Given the description of an element on the screen output the (x, y) to click on. 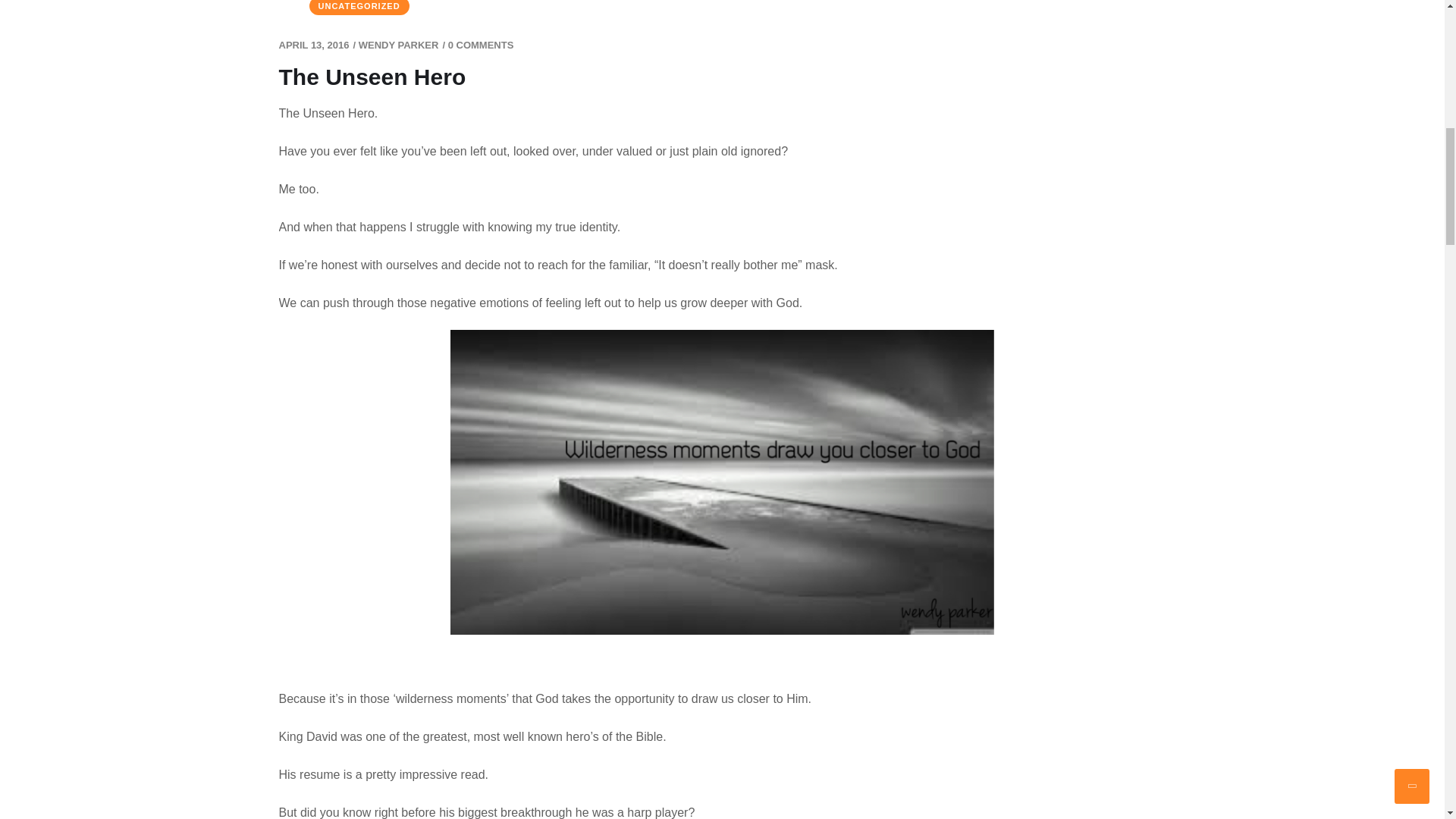
UNCATEGORIZED (358, 7)
0 COMMENTS (480, 44)
WENDY PARKER (398, 44)
APRIL 13, 2016 (314, 44)
